Given the description of an element on the screen output the (x, y) to click on. 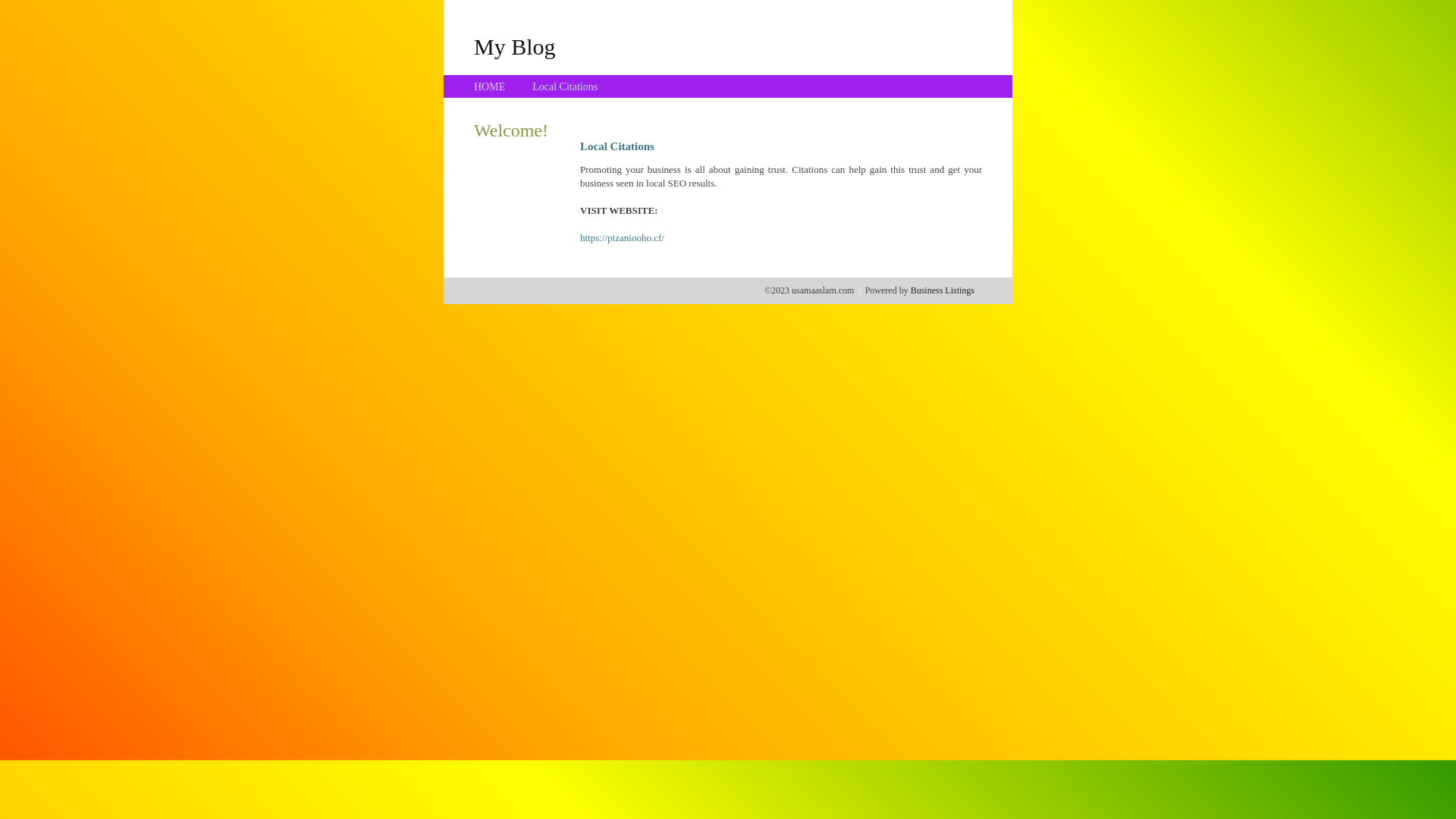
Business Listings Element type: text (942, 290)
HOME Element type: text (489, 86)
Local Citations Element type: text (564, 86)
https://pizaniooho.cf/ Element type: text (622, 237)
My Blog Element type: text (514, 46)
